Given the description of an element on the screen output the (x, y) to click on. 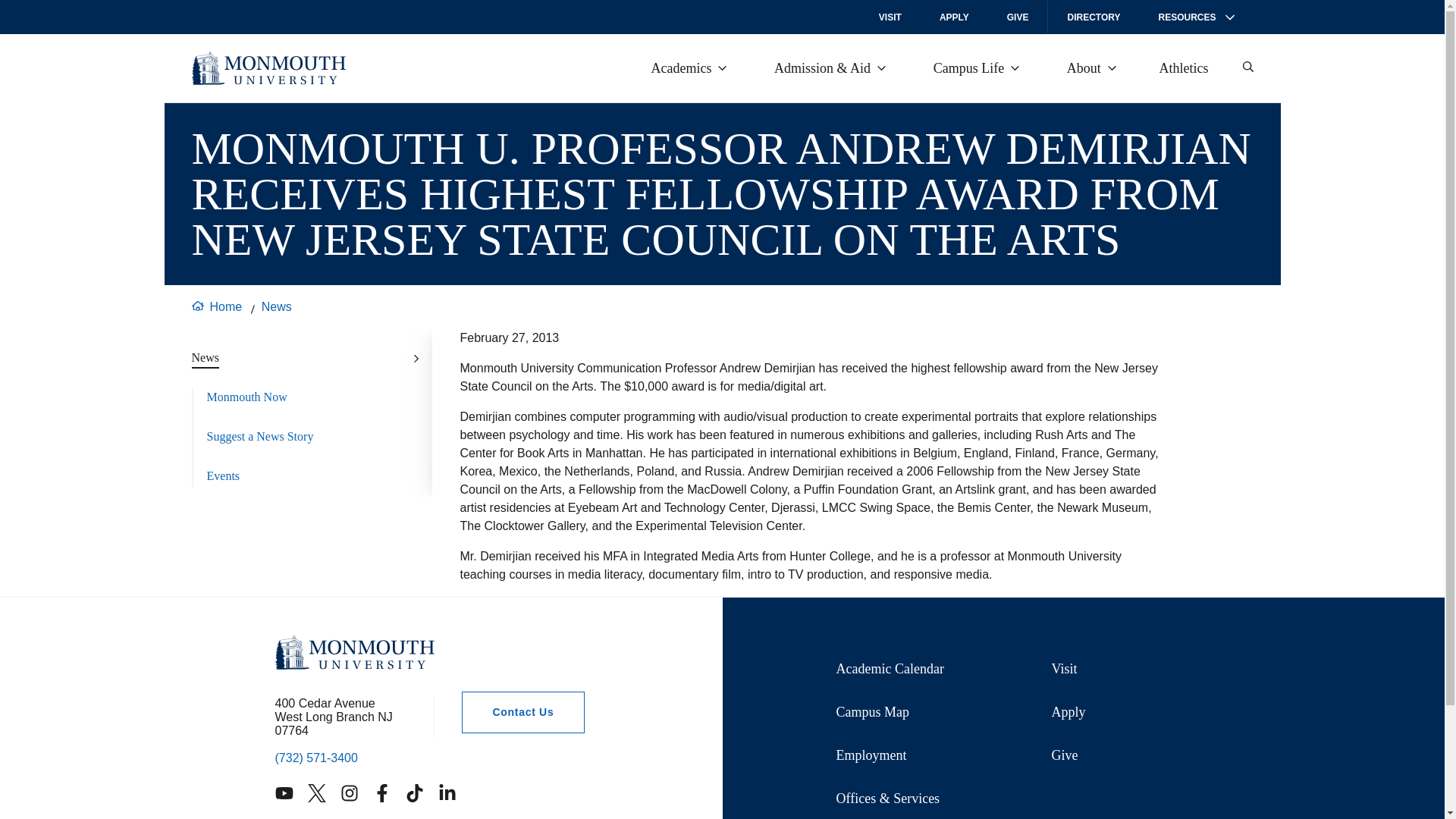
DIRECTORY (1093, 16)
Academics (688, 67)
GIVE (1018, 16)
Open Site Search (1246, 66)
Athletics Homepage (1186, 68)
RESOURCES (1195, 16)
VISIT (890, 16)
APPLY (954, 16)
Monmouth Homepage (267, 68)
